Given the description of an element on the screen output the (x, y) to click on. 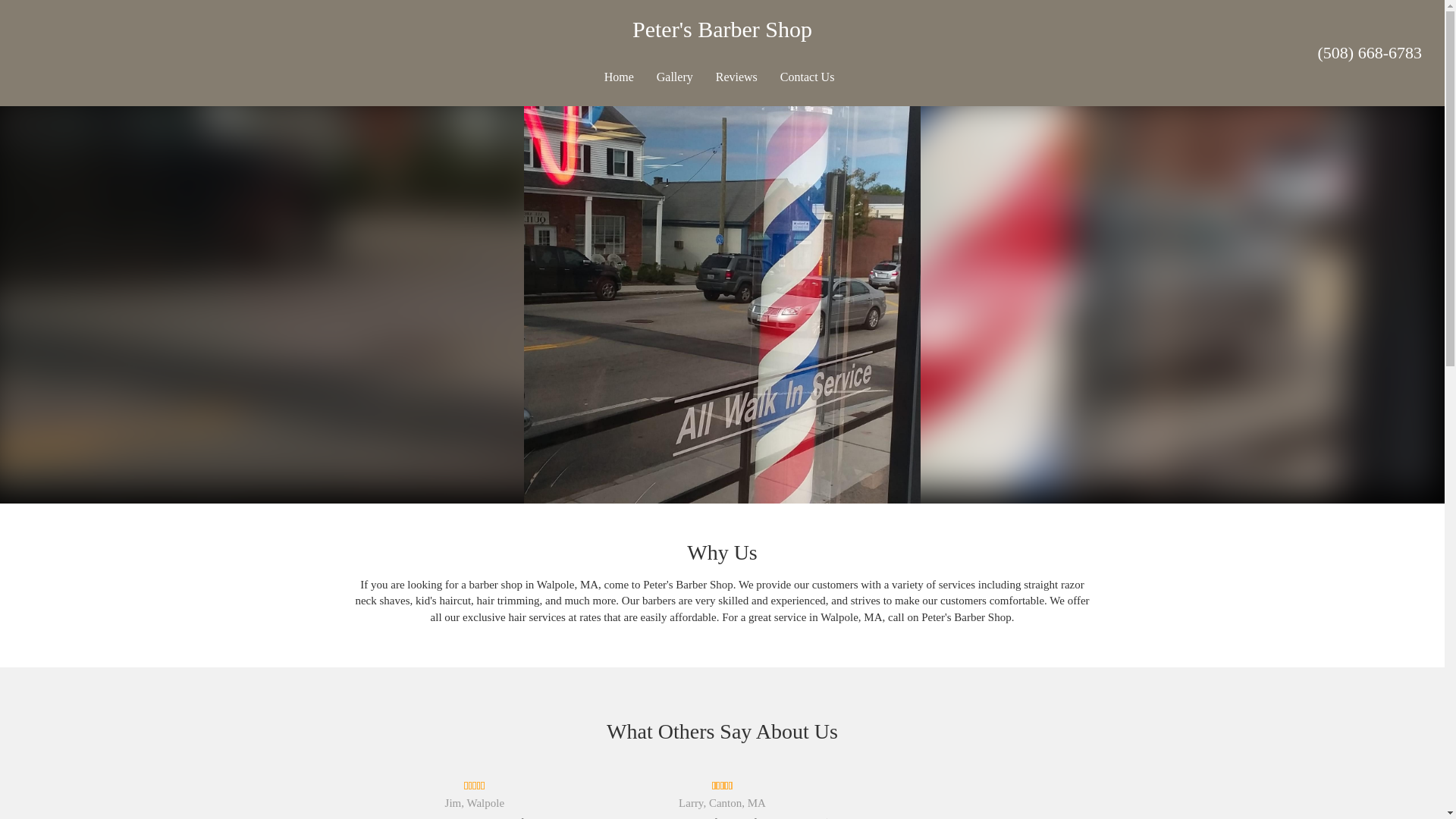
Contact Us (807, 77)
Home (618, 77)
Contact Us (807, 77)
Gallery (674, 77)
Reviews (736, 77)
Reviews (736, 77)
Gallery (674, 77)
Home (618, 77)
